Given the description of an element on the screen output the (x, y) to click on. 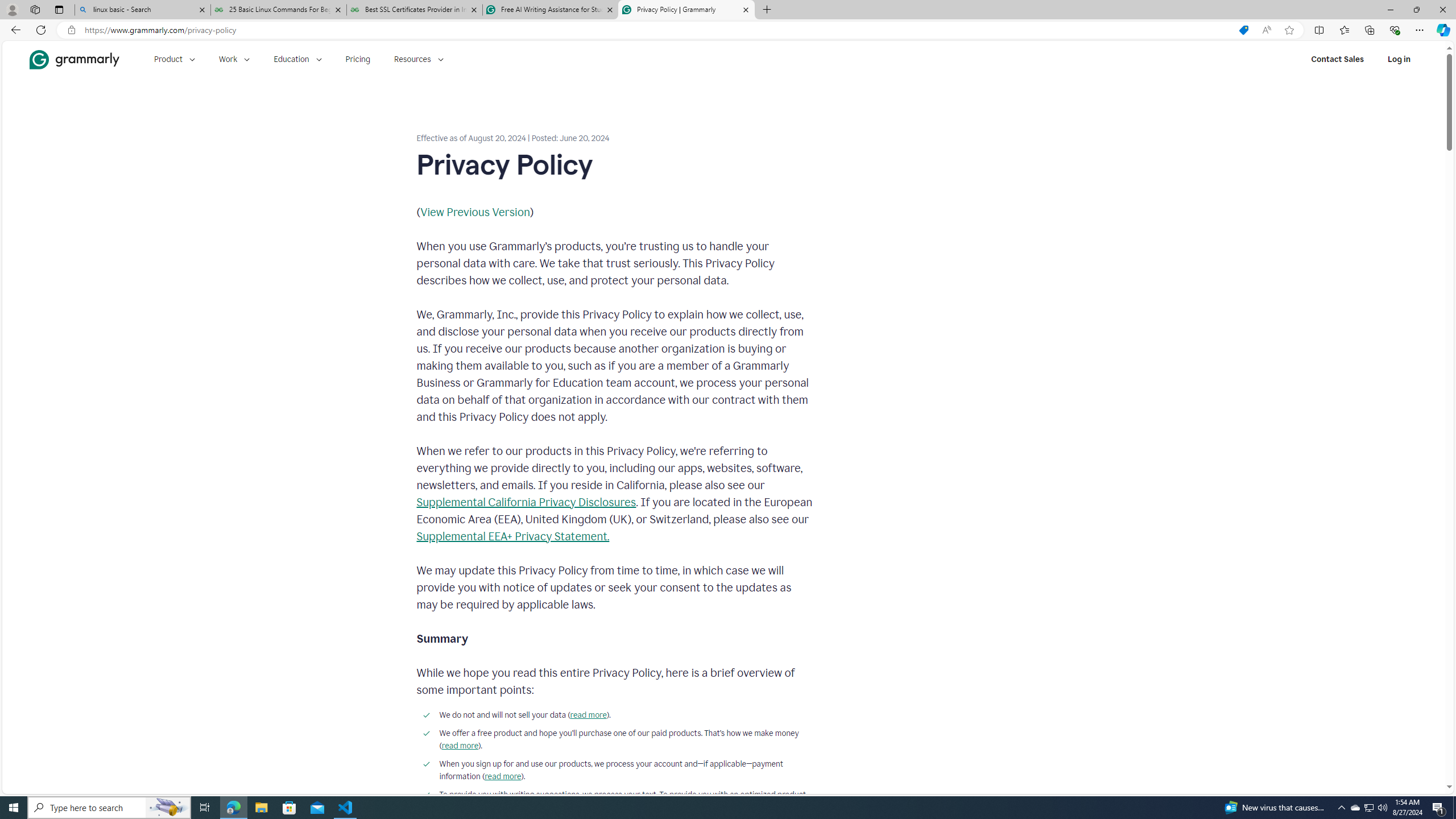
Product (174, 58)
Education (297, 58)
Supplemental EEA+ Privacy Statement. (513, 535)
